Given the description of an element on the screen output the (x, y) to click on. 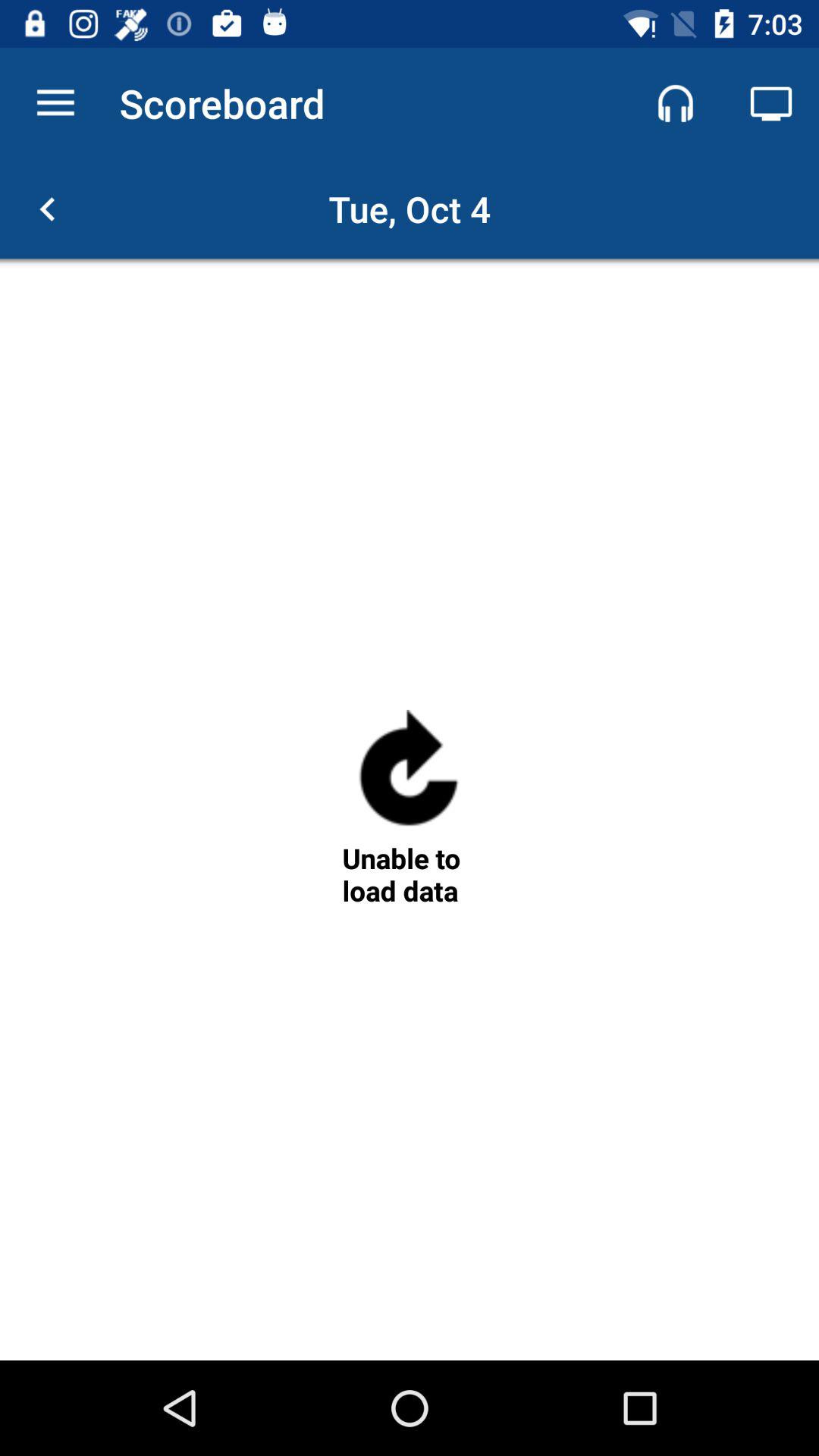
turn off the tue, oct 4 (409, 208)
